Given the description of an element on the screen output the (x, y) to click on. 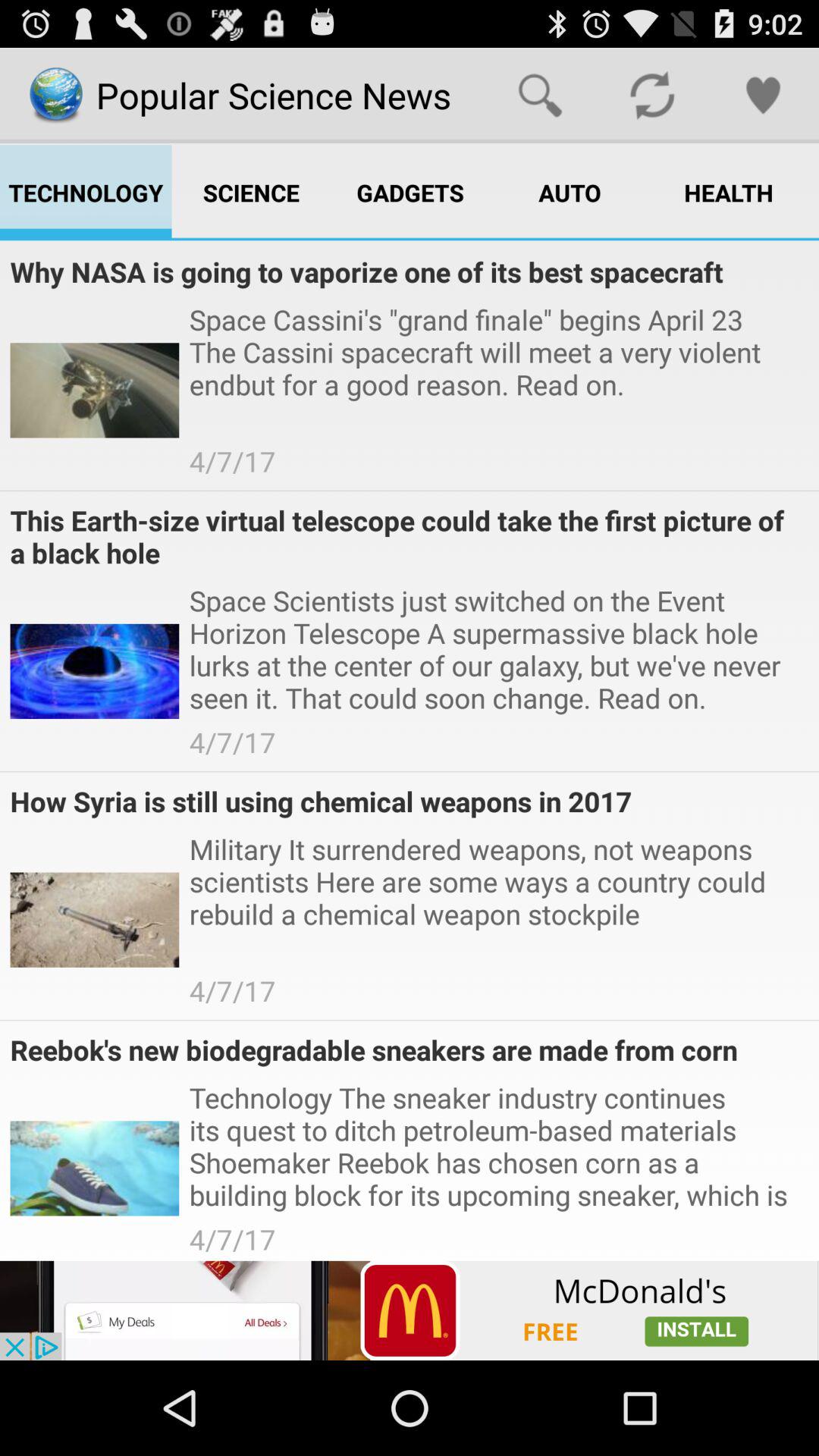
select advertisement (409, 1310)
